Given the description of an element on the screen output the (x, y) to click on. 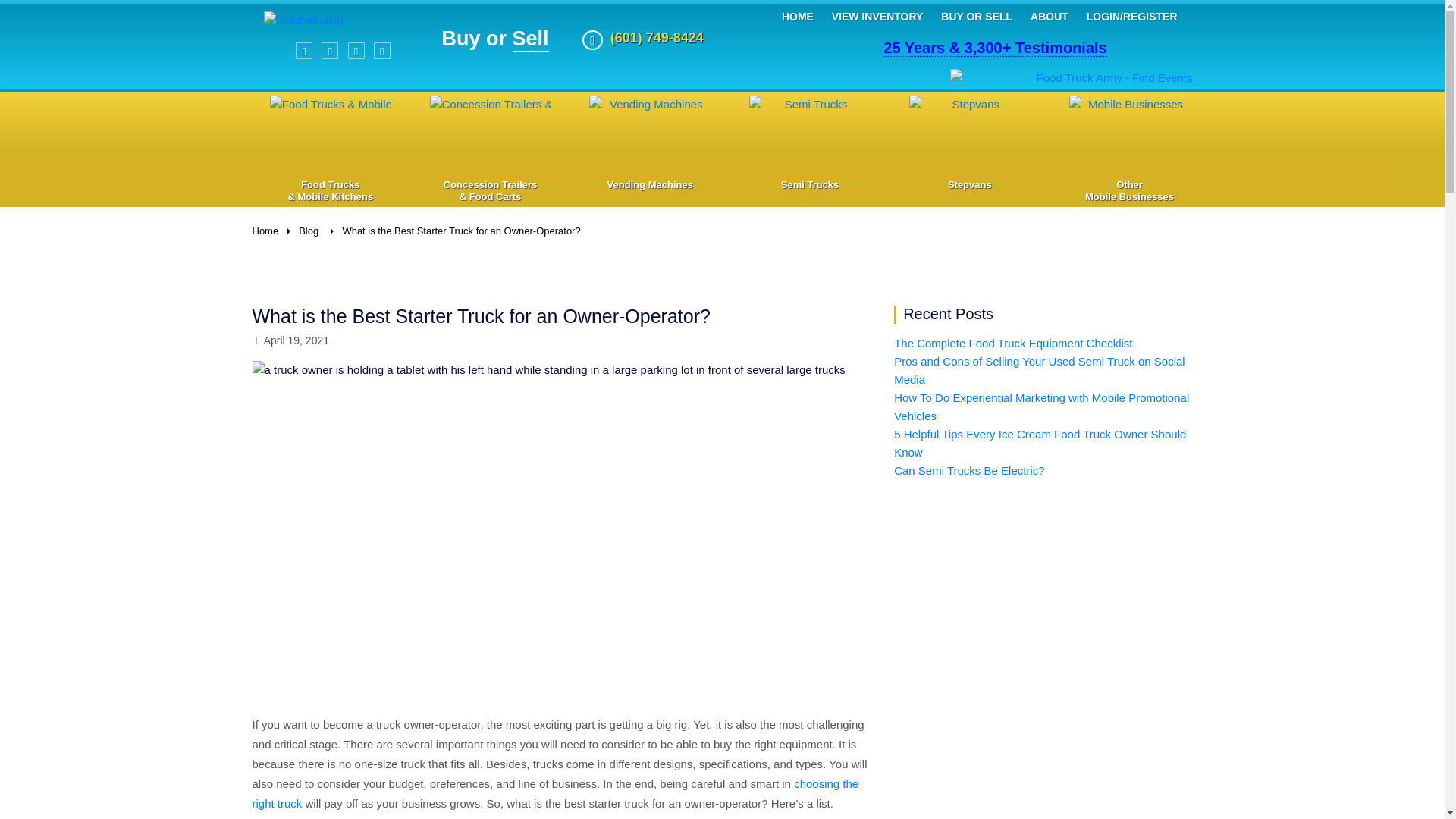
View Inventory (877, 16)
VIEW INVENTORY (877, 16)
Home (797, 16)
Sell (530, 39)
HOME (797, 16)
BUY OR SELL (976, 16)
Buy or Sell (976, 16)
ABOUT (1049, 16)
